Given the description of an element on the screen output the (x, y) to click on. 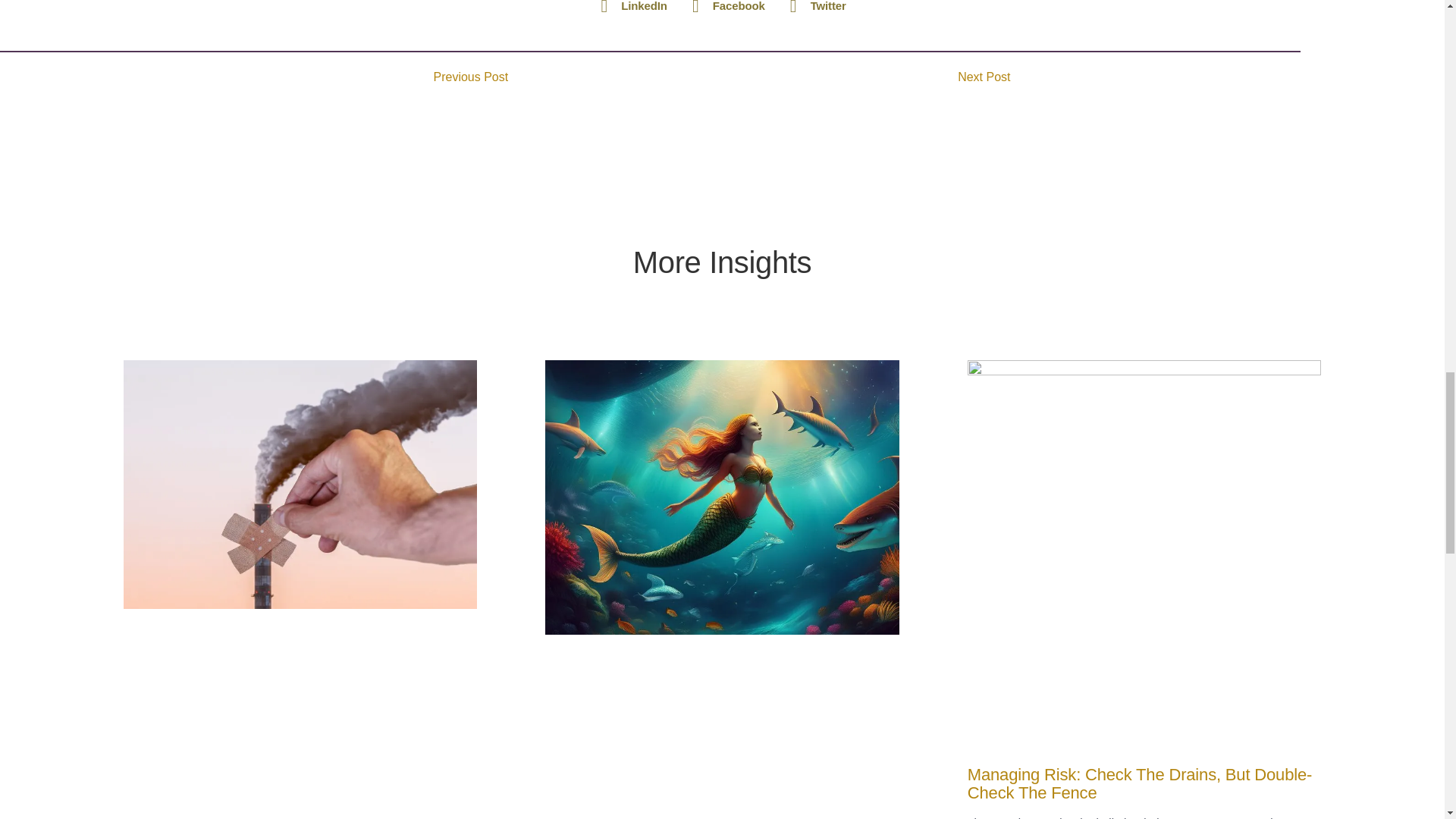
Managing Risk: Check The Drains, But Double-Check The Fence (1139, 783)
Previous Post (577, 76)
Next Post (866, 76)
